Given the description of an element on the screen output the (x, y) to click on. 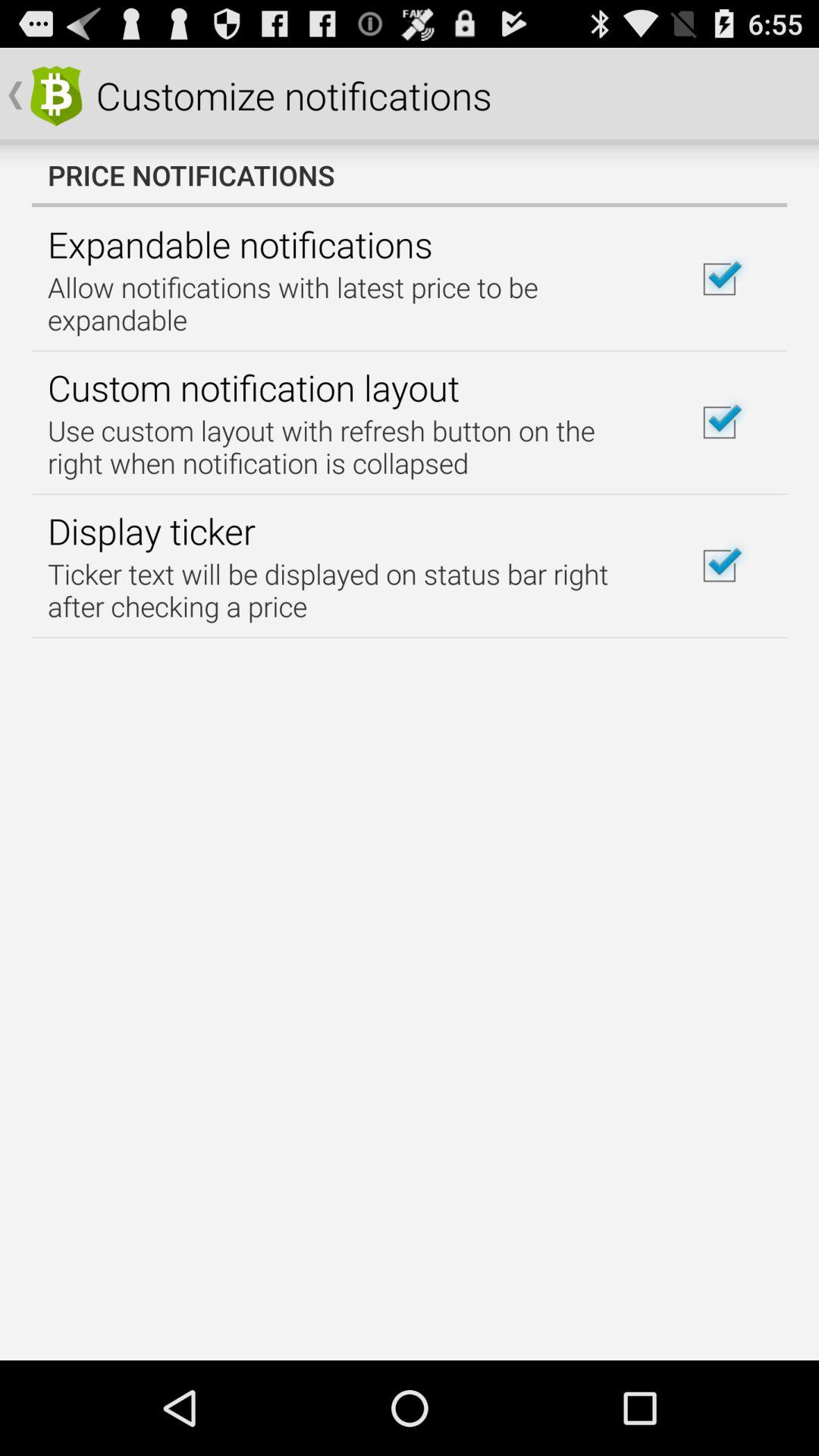
launch item on the left (151, 530)
